Given the description of an element on the screen output the (x, y) to click on. 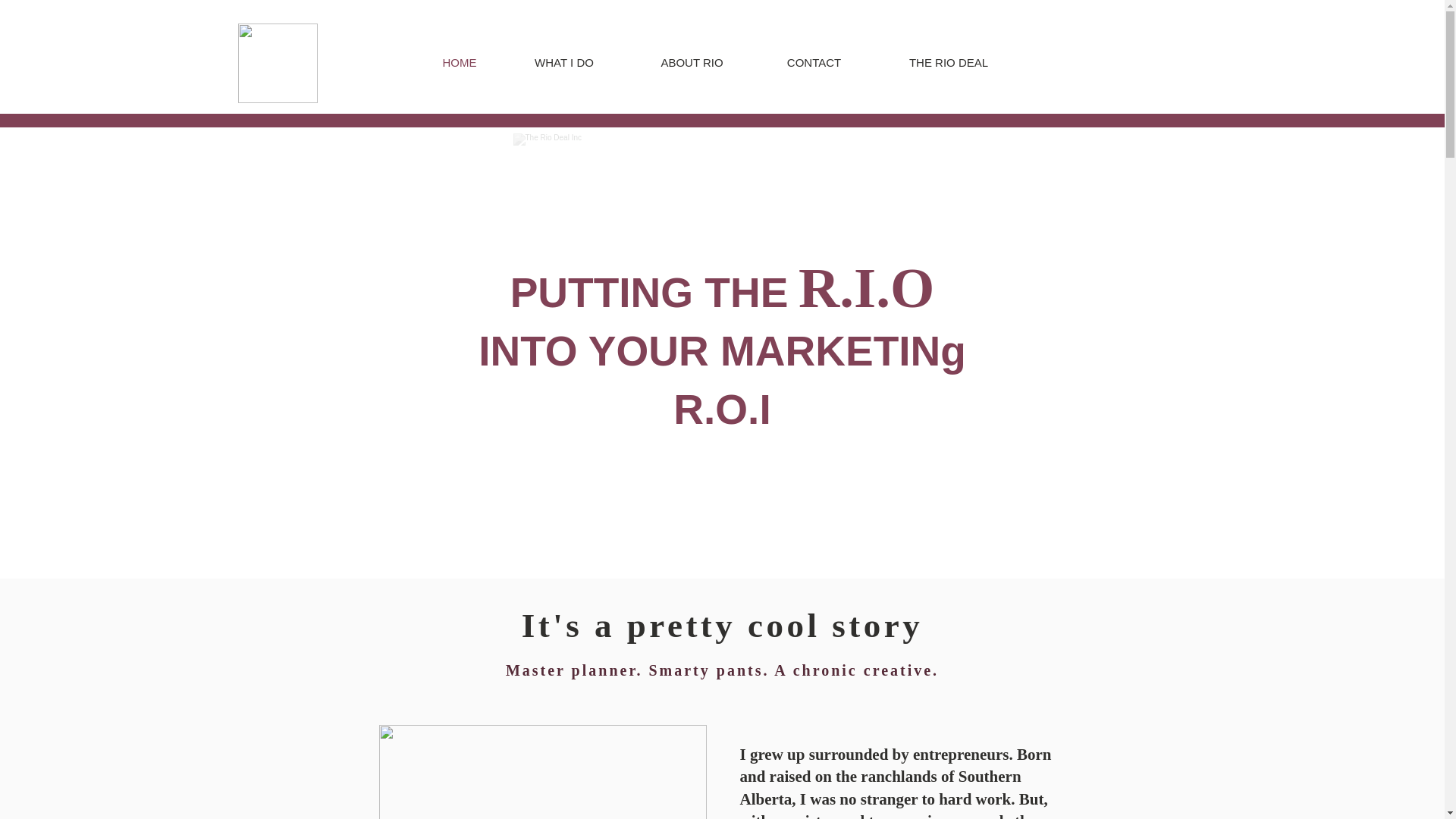
THE RIO DEAL (949, 62)
Rio Pisony, Owner The Rio Deal Inc..png (542, 771)
ABOUT RIO (692, 62)
HOME (459, 62)
CONTACT (814, 62)
WHAT I DO (563, 62)
The Rio Deal.png (277, 63)
